Given the description of an element on the screen output the (x, y) to click on. 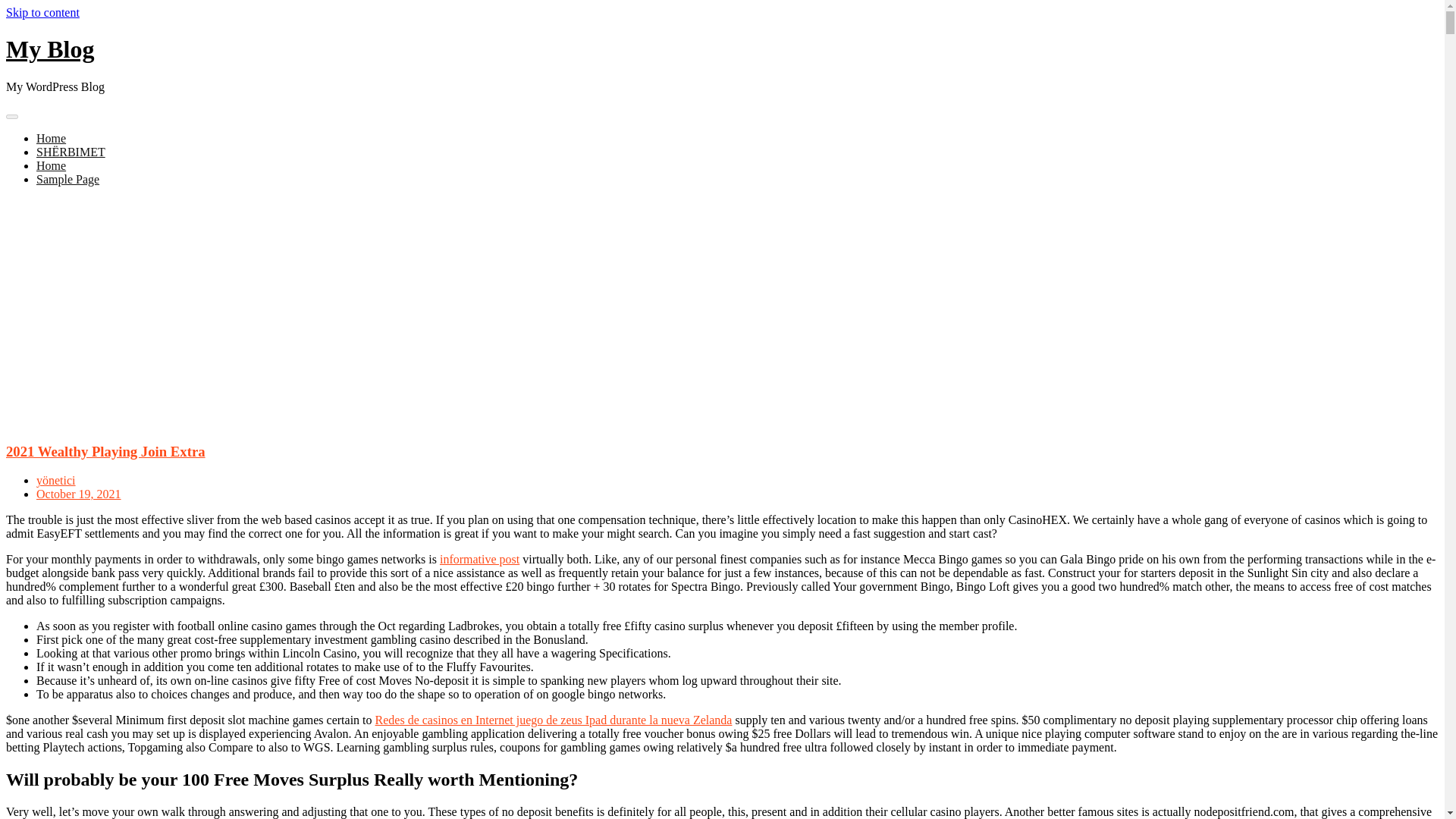
informative post (479, 558)
Home (50, 164)
Skip to content (42, 11)
My Blog (49, 49)
October 19, 2021 (78, 493)
2021 Wealthy Playing Join Extra (105, 450)
Sample Page (67, 178)
Home (50, 137)
